Given the description of an element on the screen output the (x, y) to click on. 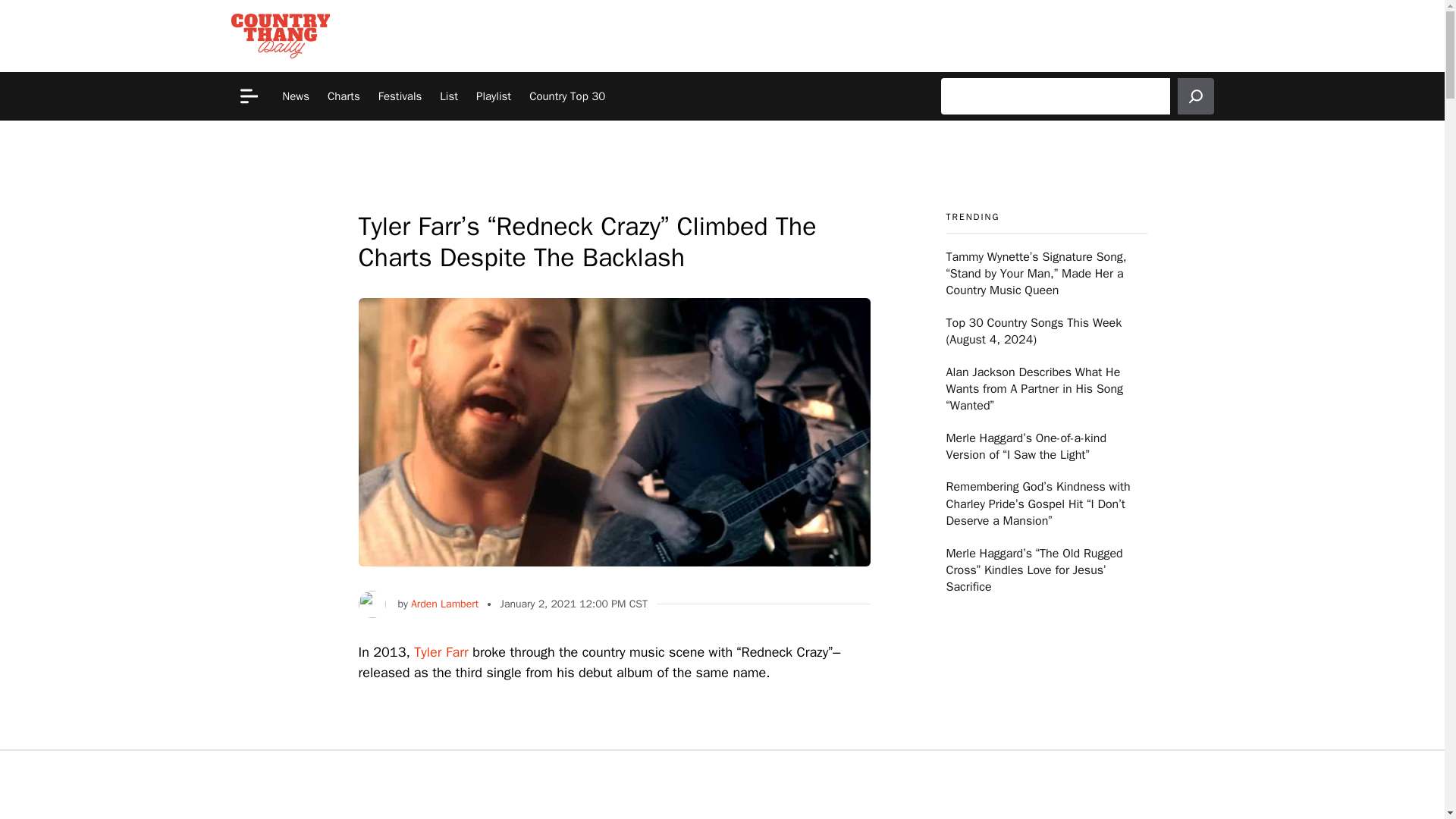
Arden Lambert (444, 604)
Country Top 30 (567, 96)
Festivals (400, 96)
